Given the description of an element on the screen output the (x, y) to click on. 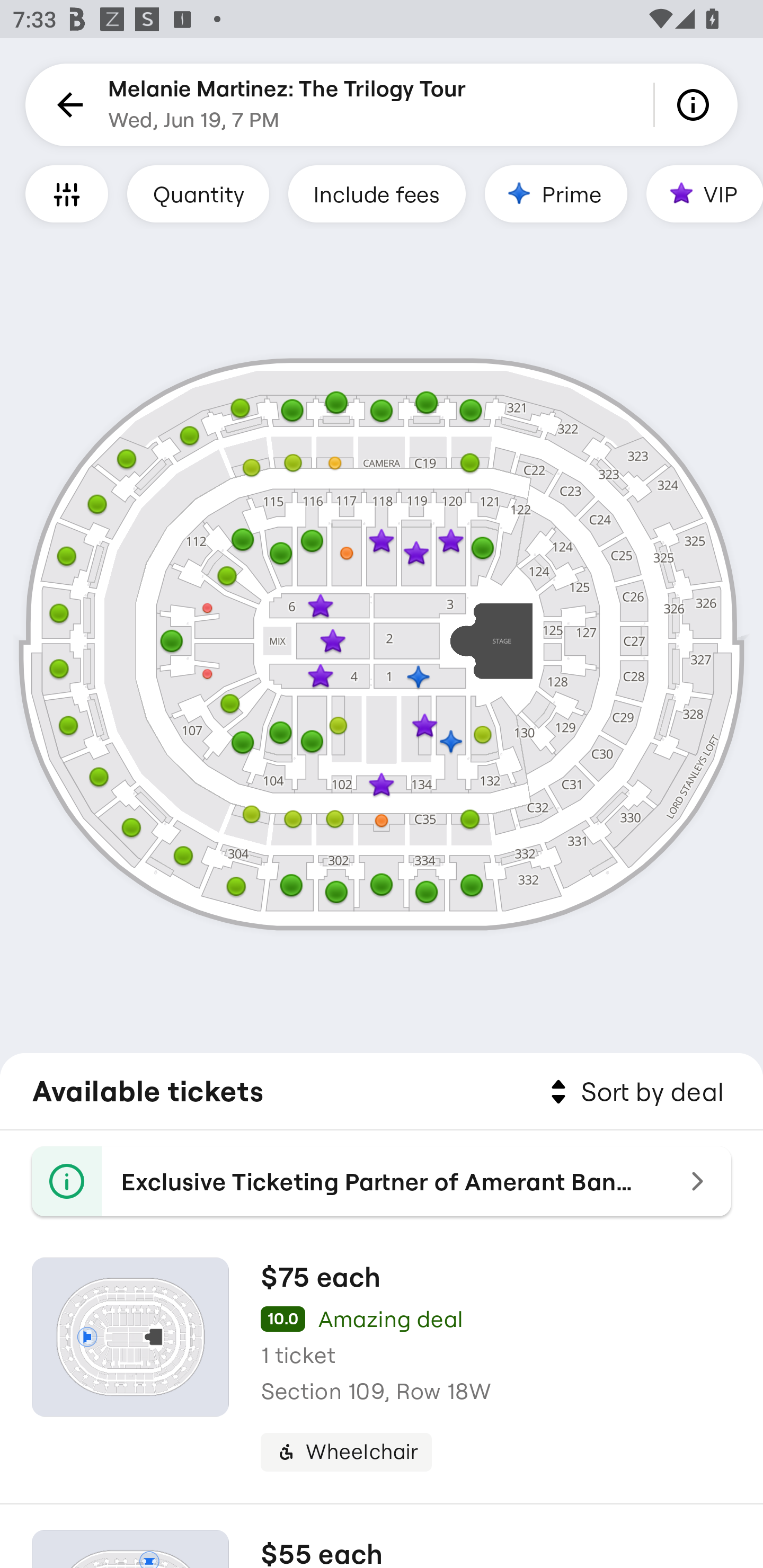
Back (66, 104)
Info (695, 104)
Filters and Accessible Seating (66, 193)
Quantity (198, 193)
Include fees (376, 193)
Prime (555, 193)
VIP (704, 193)
Sort by deal (633, 1091)
Exclusive Ticketing Partner of Amerant Bank Arena (381, 1181)
